Given the description of an element on the screen output the (x, y) to click on. 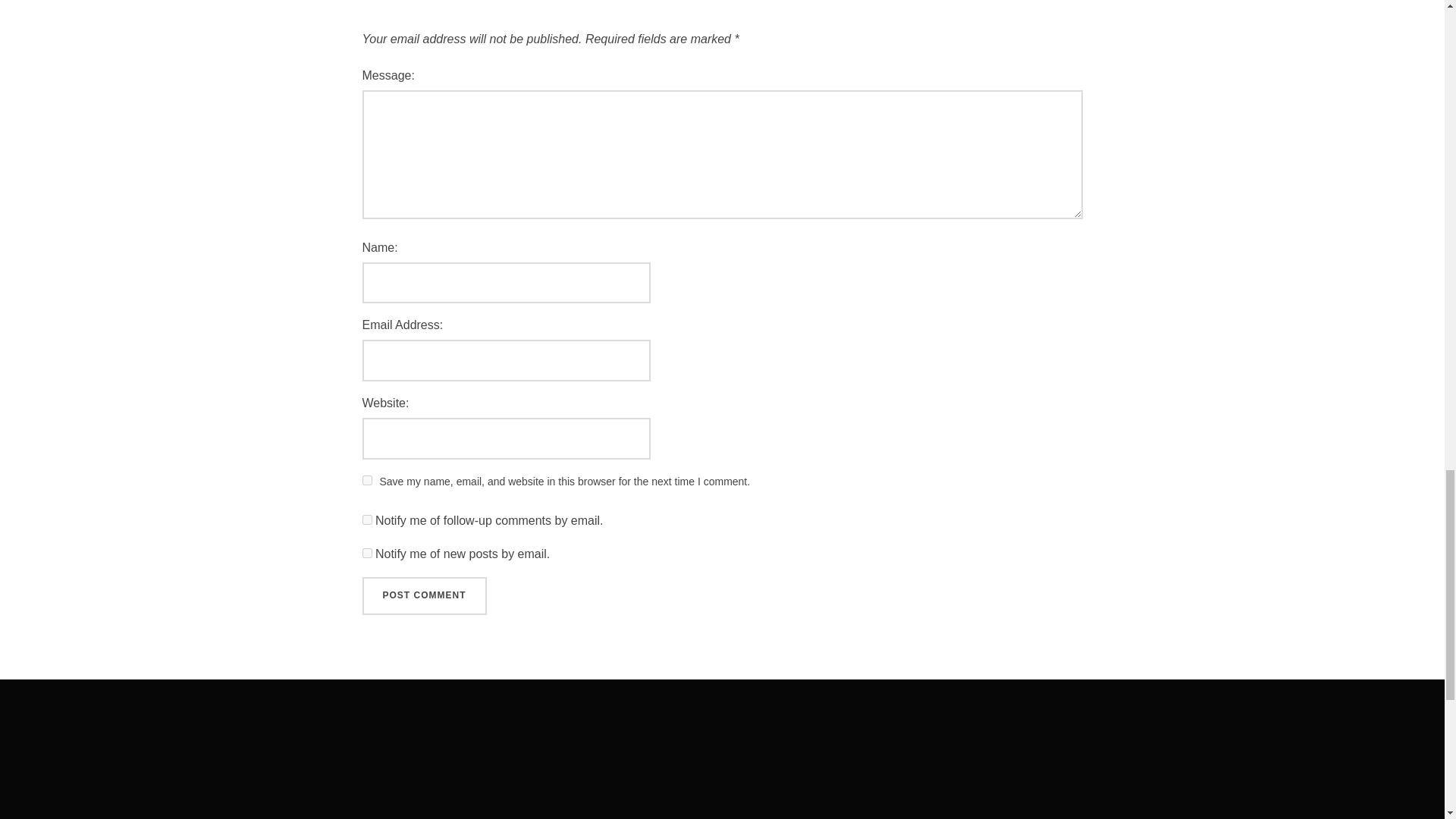
yes (367, 480)
Post Comment (424, 596)
subscribe (367, 552)
subscribe (367, 519)
